Given the description of an element on the screen output the (x, y) to click on. 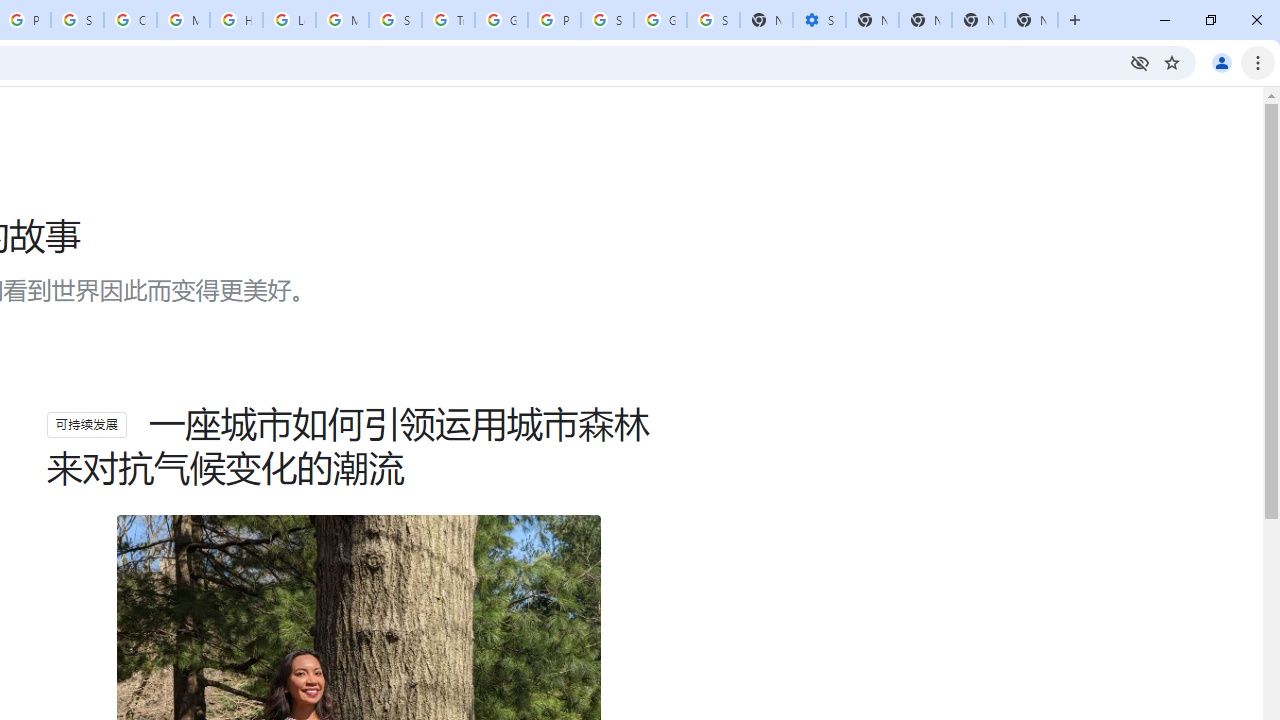
Sign in - Google Accounts (607, 20)
Trusted Information and Content - Google Safety Center (448, 20)
